Given the description of an element on the screen output the (x, y) to click on. 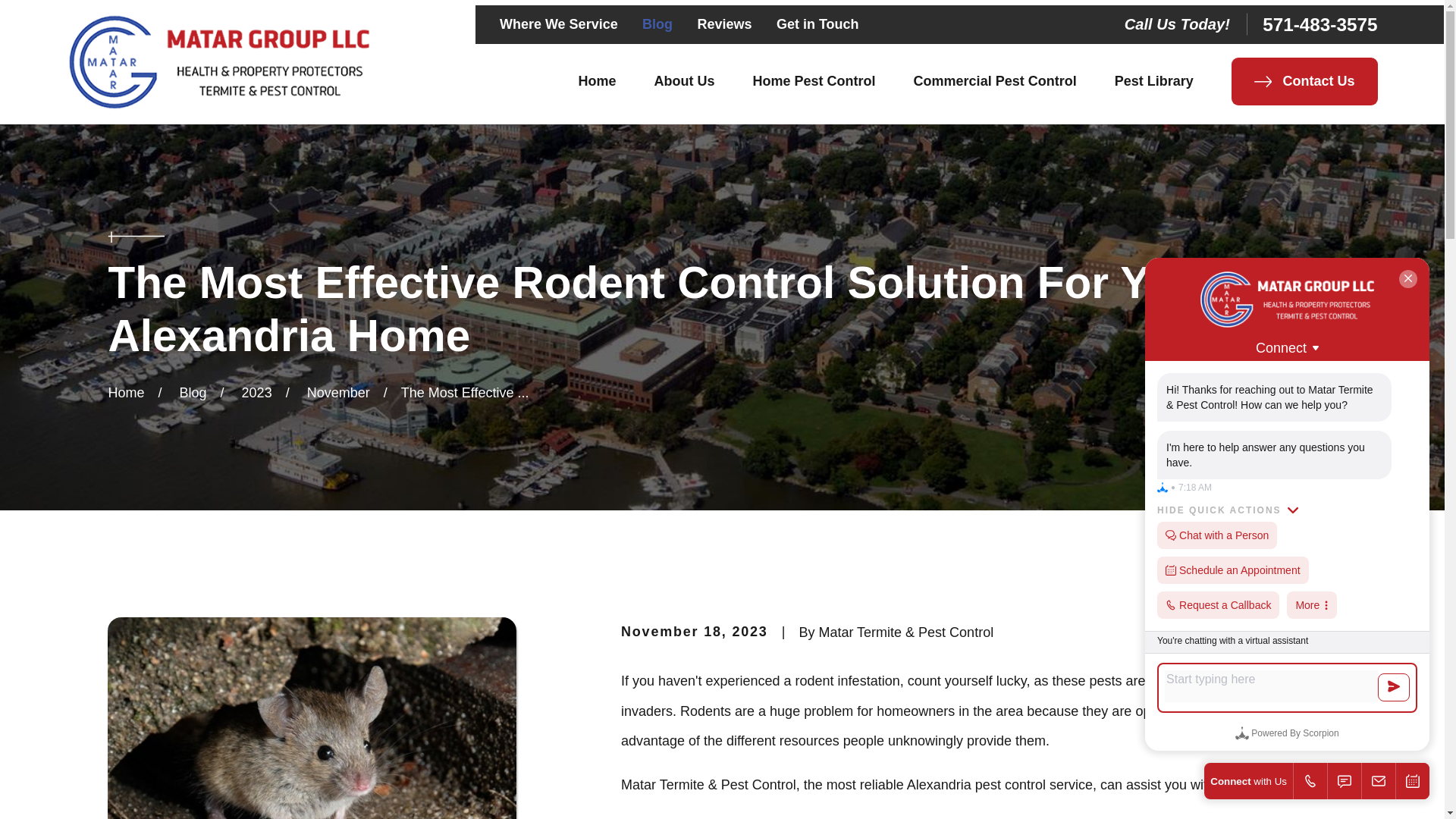
Pest Library (1154, 81)
Go Home (125, 392)
Home Pest Control (814, 81)
Blog (657, 23)
Get in Touch (817, 23)
571-483-3575 (1319, 24)
Home (596, 81)
Where We Service (558, 23)
Reviews (724, 23)
Home (217, 61)
Commercial Pest Control (995, 81)
About Us (683, 81)
